Given the description of an element on the screen output the (x, y) to click on. 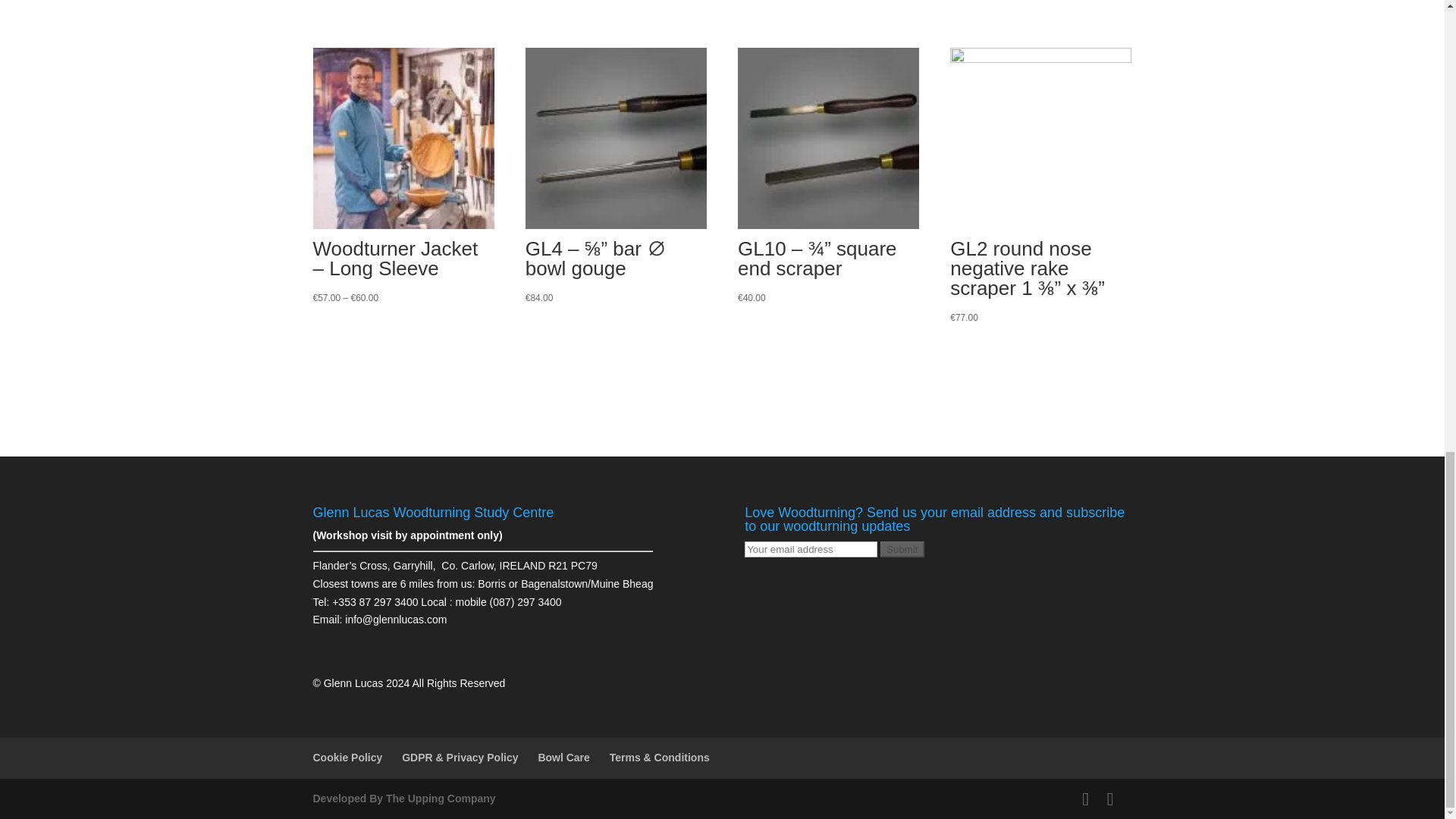
Submit (901, 549)
Submit (901, 549)
Cookie Policy (347, 757)
Bowl Care (563, 757)
